Given the description of an element on the screen output the (x, y) to click on. 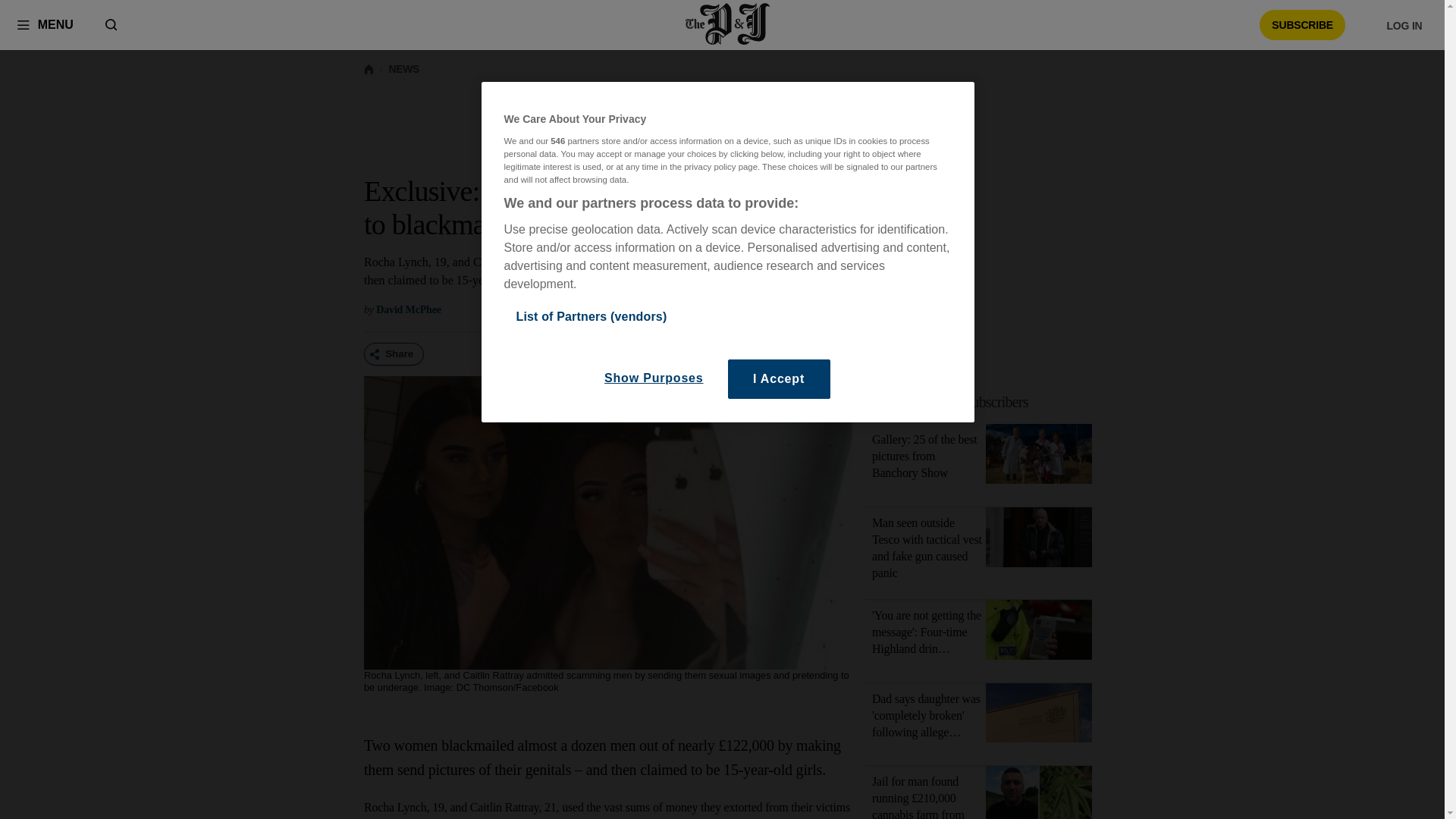
Exclusive to our subscribers (950, 402)
Press and Journal (727, 24)
Gallery: 25 of the best pictures from Banchory Show (924, 456)
MENU (44, 24)
Gallery: 25 of the best pictures from Banchory Show (1038, 456)
